Given the description of an element on the screen output the (x, y) to click on. 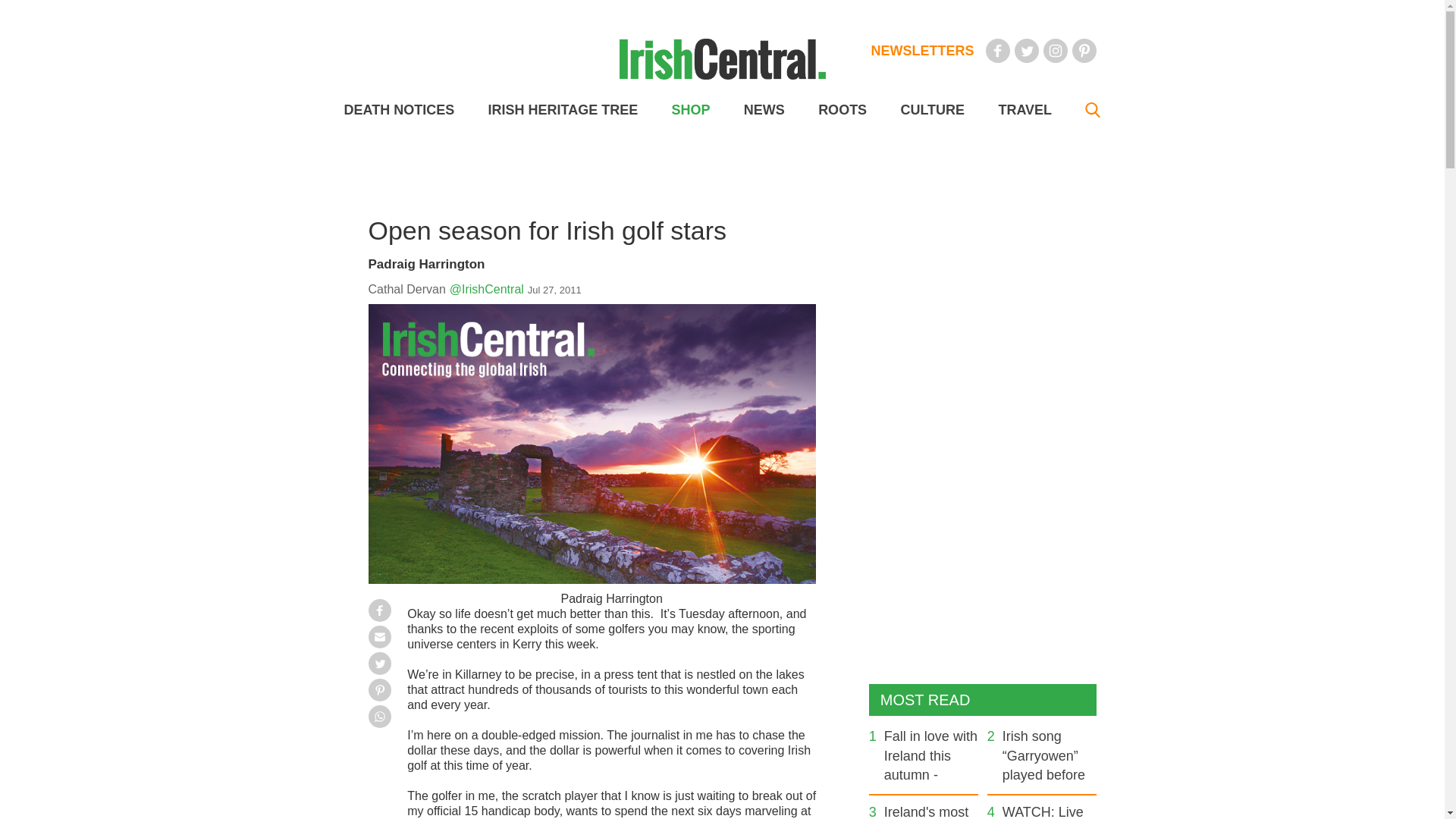
SHOP (690, 109)
3rd party ad content (721, 170)
ROOTS (842, 109)
3rd party ad content (721, 785)
NEWS (764, 109)
DEATH NOTICES (398, 109)
NEWSLETTERS (922, 50)
CULTURE (931, 109)
IRISH HERITAGE TREE (562, 109)
TRAVEL (1024, 109)
